Given the description of an element on the screen output the (x, y) to click on. 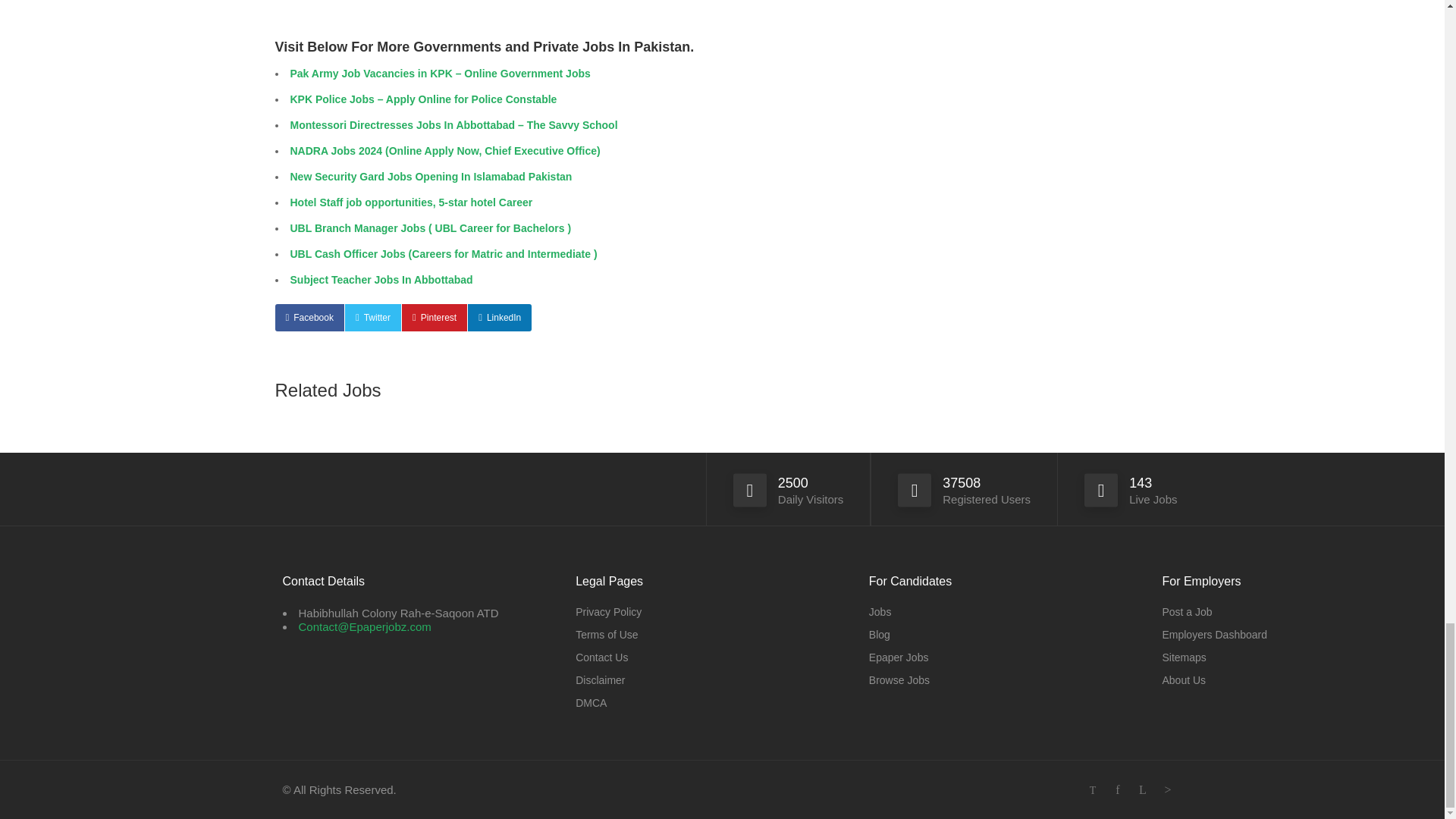
Pinterest (434, 317)
Facebook (309, 317)
Twitter (373, 317)
reddit (1167, 789)
Twitter (373, 317)
linkedin (1141, 789)
Hotel Staff job opportunities, 5-star hotel Career (410, 202)
twitter (1092, 789)
facebook (1117, 789)
Subject Teacher Jobs In Abbottabad (380, 279)
